Given the description of an element on the screen output the (x, y) to click on. 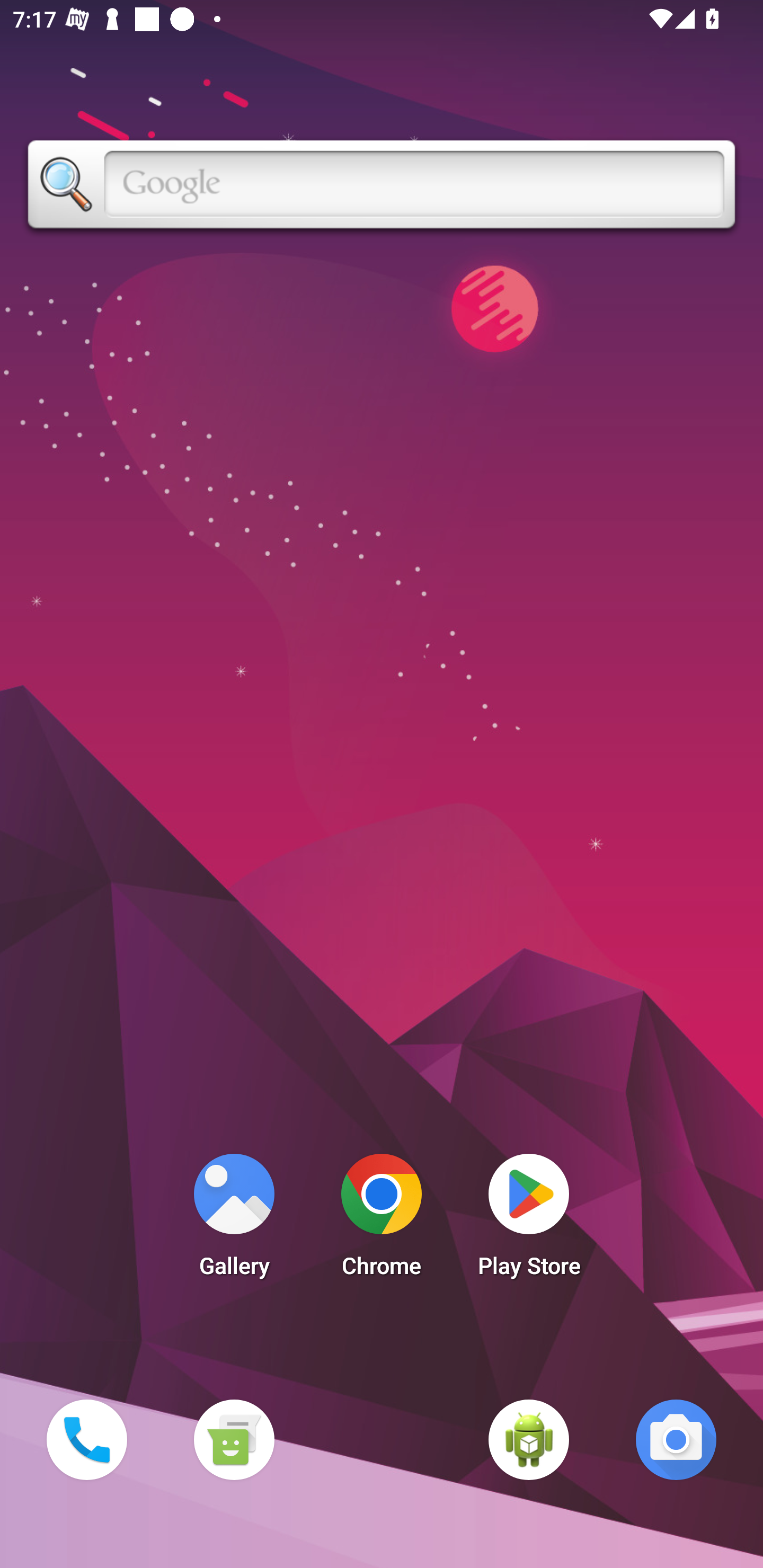
Gallery (233, 1220)
Chrome (381, 1220)
Play Store (528, 1220)
Phone (86, 1439)
Messaging (233, 1439)
WebView Browser Tester (528, 1439)
Camera (676, 1439)
